Given the description of an element on the screen output the (x, y) to click on. 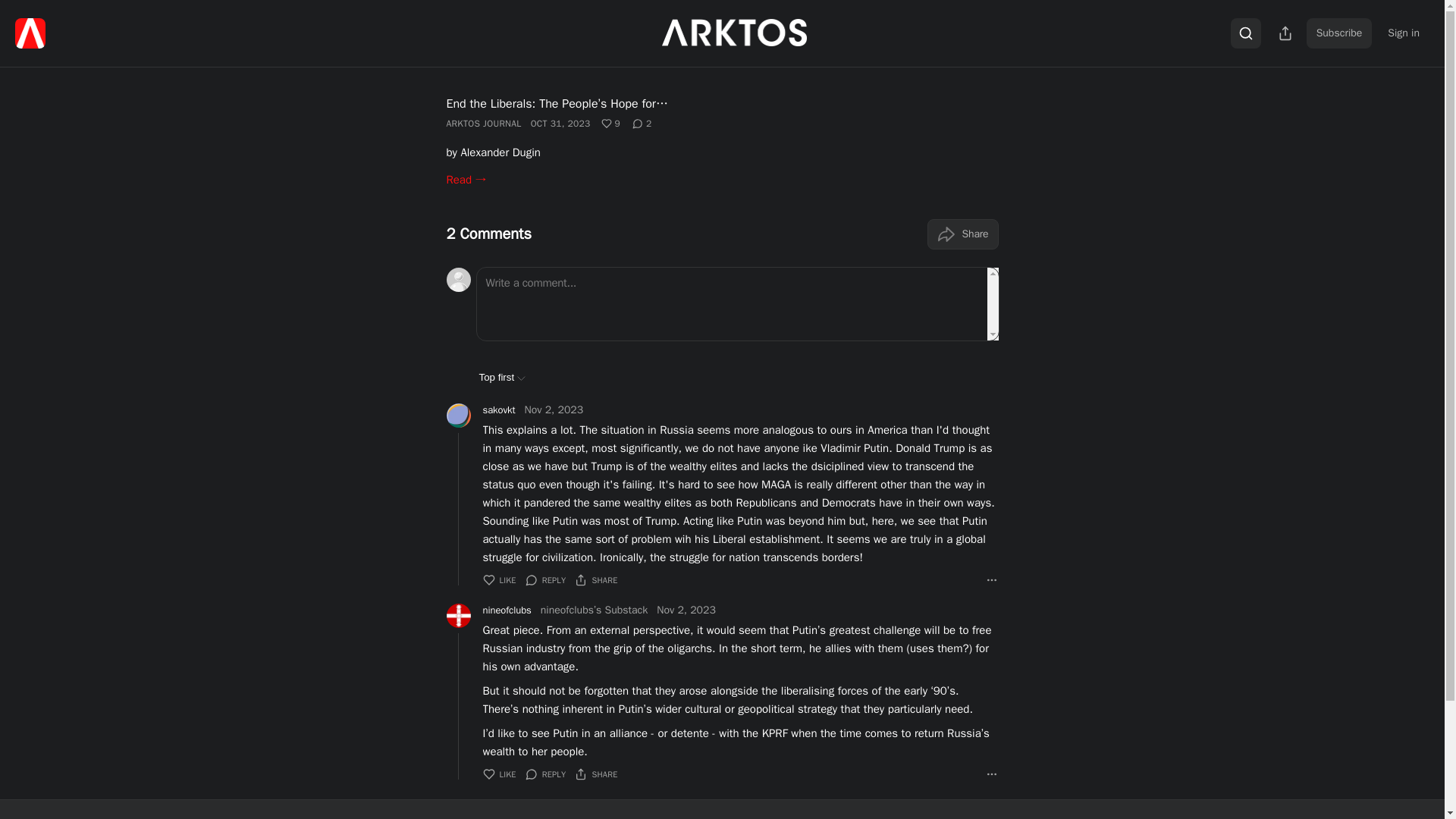
Subscribe (1339, 33)
REPLY (545, 774)
LIKE (498, 580)
SHARE (596, 580)
9 (611, 123)
Share (962, 234)
LIKE (498, 774)
Nov 2, 2023 (686, 610)
Nov 2, 2023 (553, 409)
2 (641, 123)
ARKTOS JOURNAL (483, 123)
sakovkt (498, 409)
2023-10-30T17:30:17.797Z (561, 123)
Sign in (1403, 33)
REPLY (545, 580)
